Given the description of an element on the screen output the (x, y) to click on. 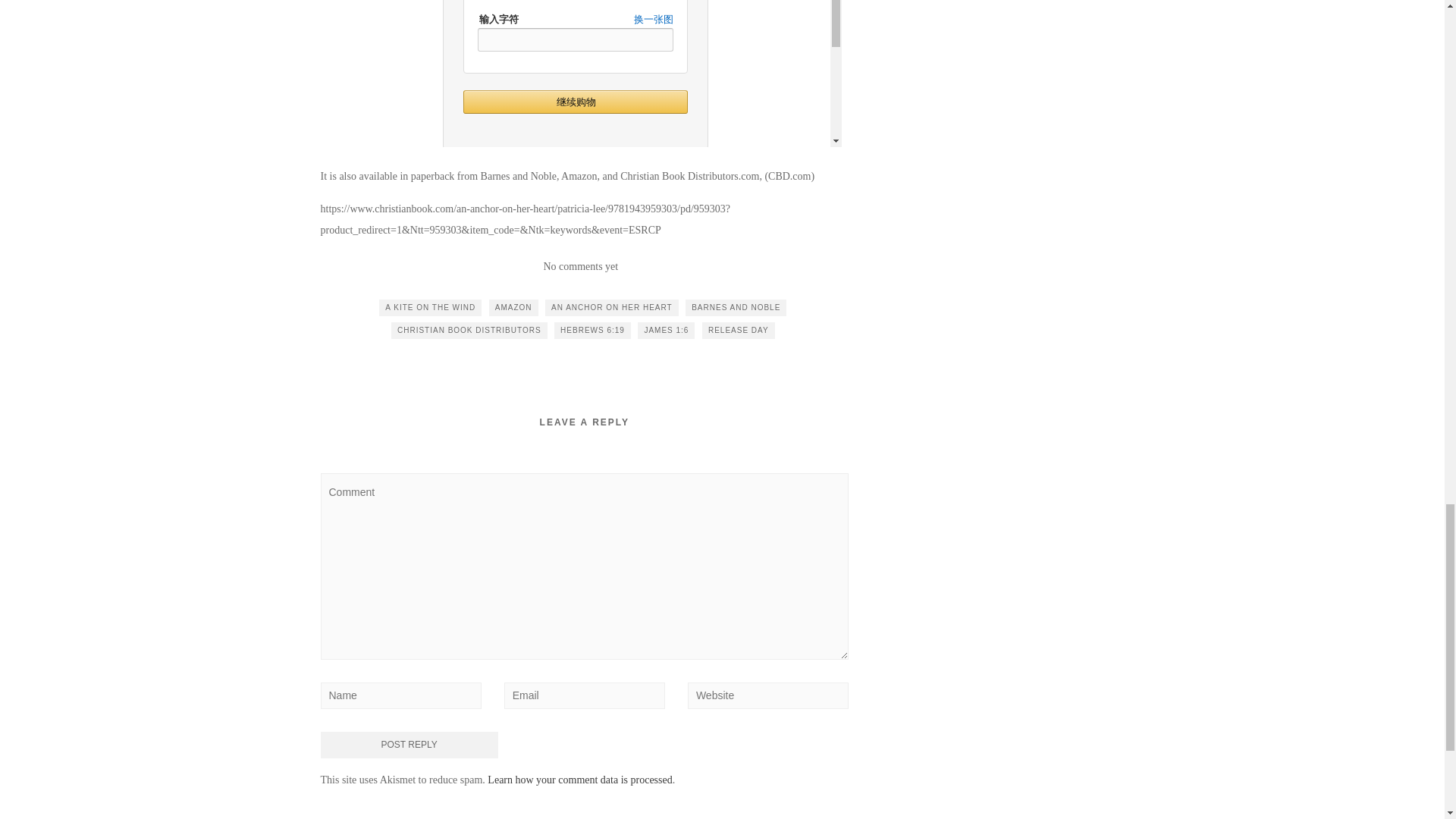
I GET LETTERS (806, 816)
HEBREWS 6:19 (592, 330)
AN UNCELEBRATED BIRTHDAY (400, 816)
JAMES 1:6 (665, 330)
CHRISTIAN BOOK DISTRIBUTORS (469, 330)
Learn how your comment data is processed (579, 779)
No comments yet (580, 266)
Post Reply (408, 745)
BARNES AND NOBLE (735, 307)
RELEASE DAY (737, 330)
